Given the description of an element on the screen output the (x, y) to click on. 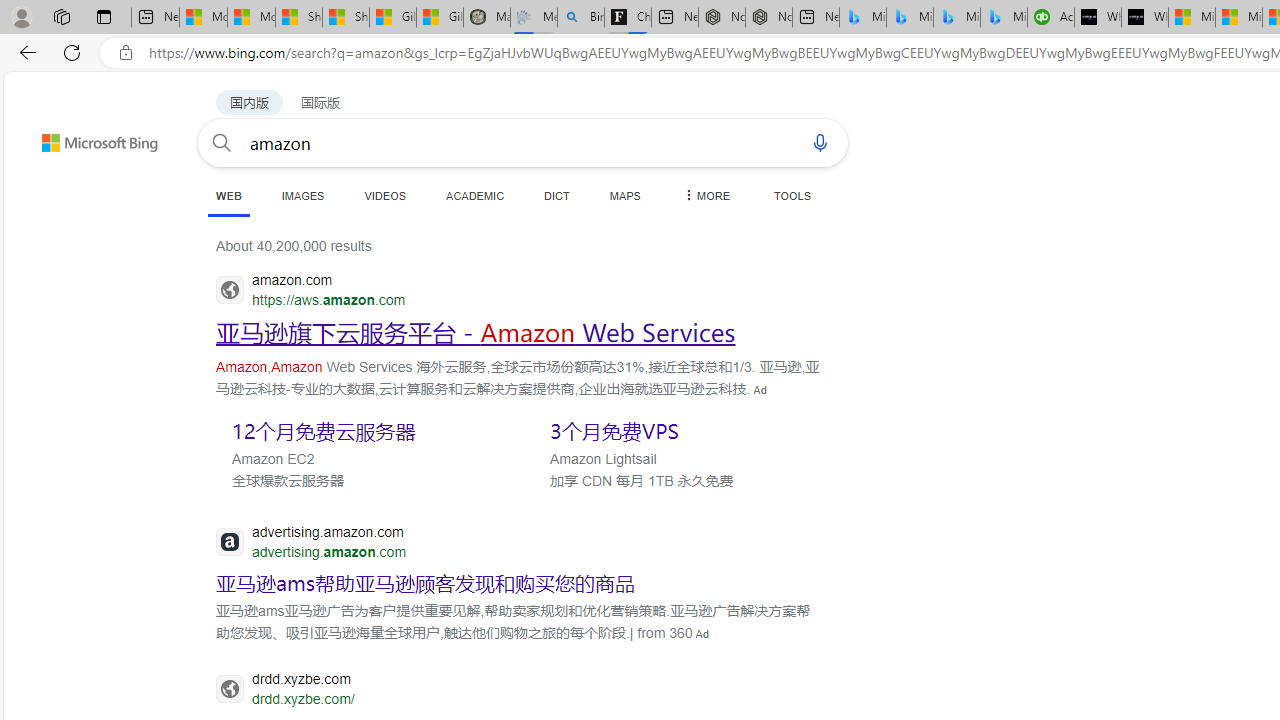
WEB (228, 196)
SERP,5550 (365, 430)
SERP,5560 (426, 583)
SERP,5551 (683, 430)
Shanghai, China weather forecast | Microsoft Weather (345, 17)
